Given the description of an element on the screen output the (x, y) to click on. 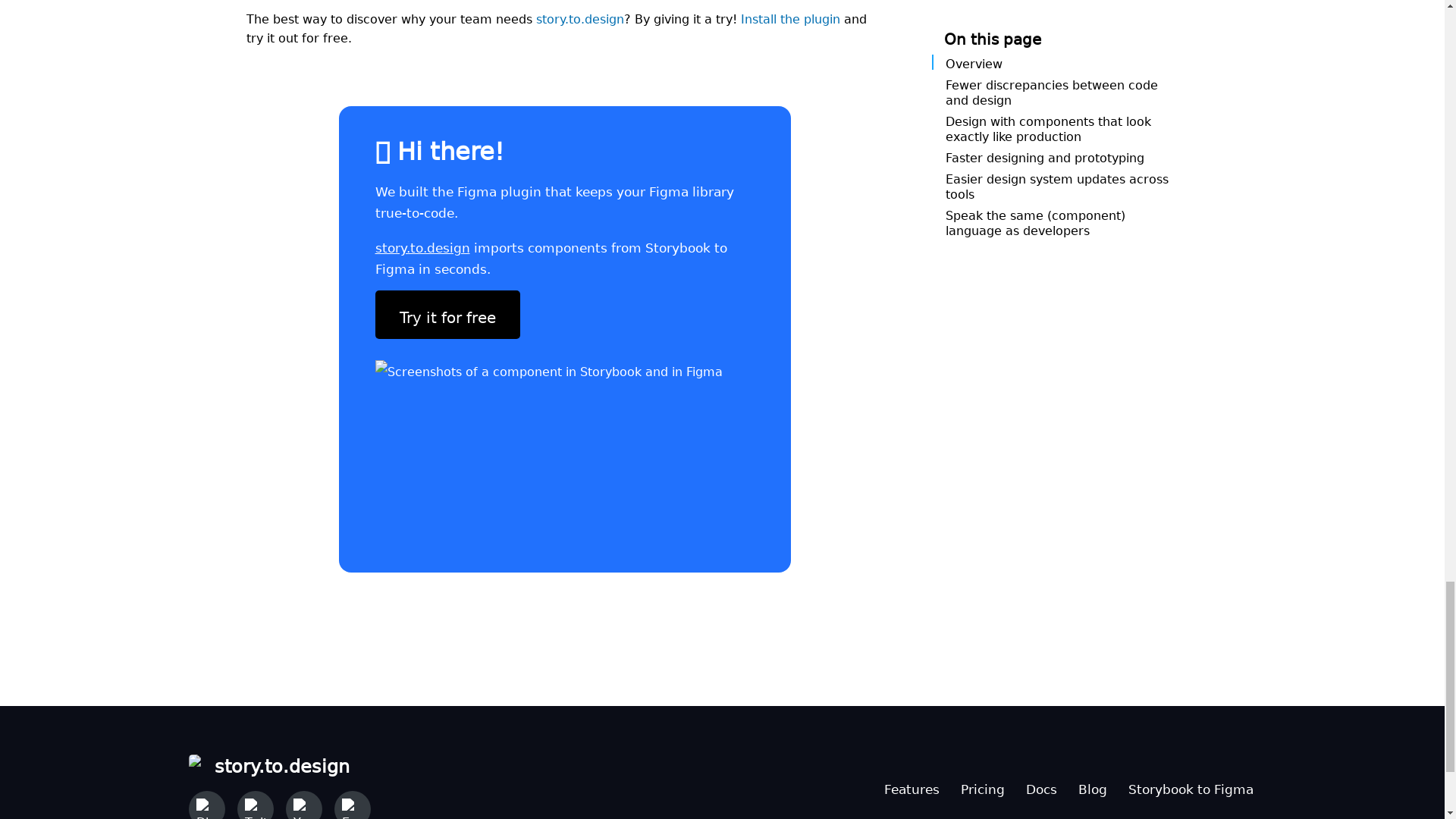
Pricing (981, 785)
Try it for free (446, 314)
Features (911, 785)
Blog (1092, 785)
Storybook to Figma (1190, 785)
story.to.design (278, 763)
story.to.design (421, 244)
story.to.design (579, 16)
Docs (1041, 785)
Install the plugin (789, 16)
